Given the description of an element on the screen output the (x, y) to click on. 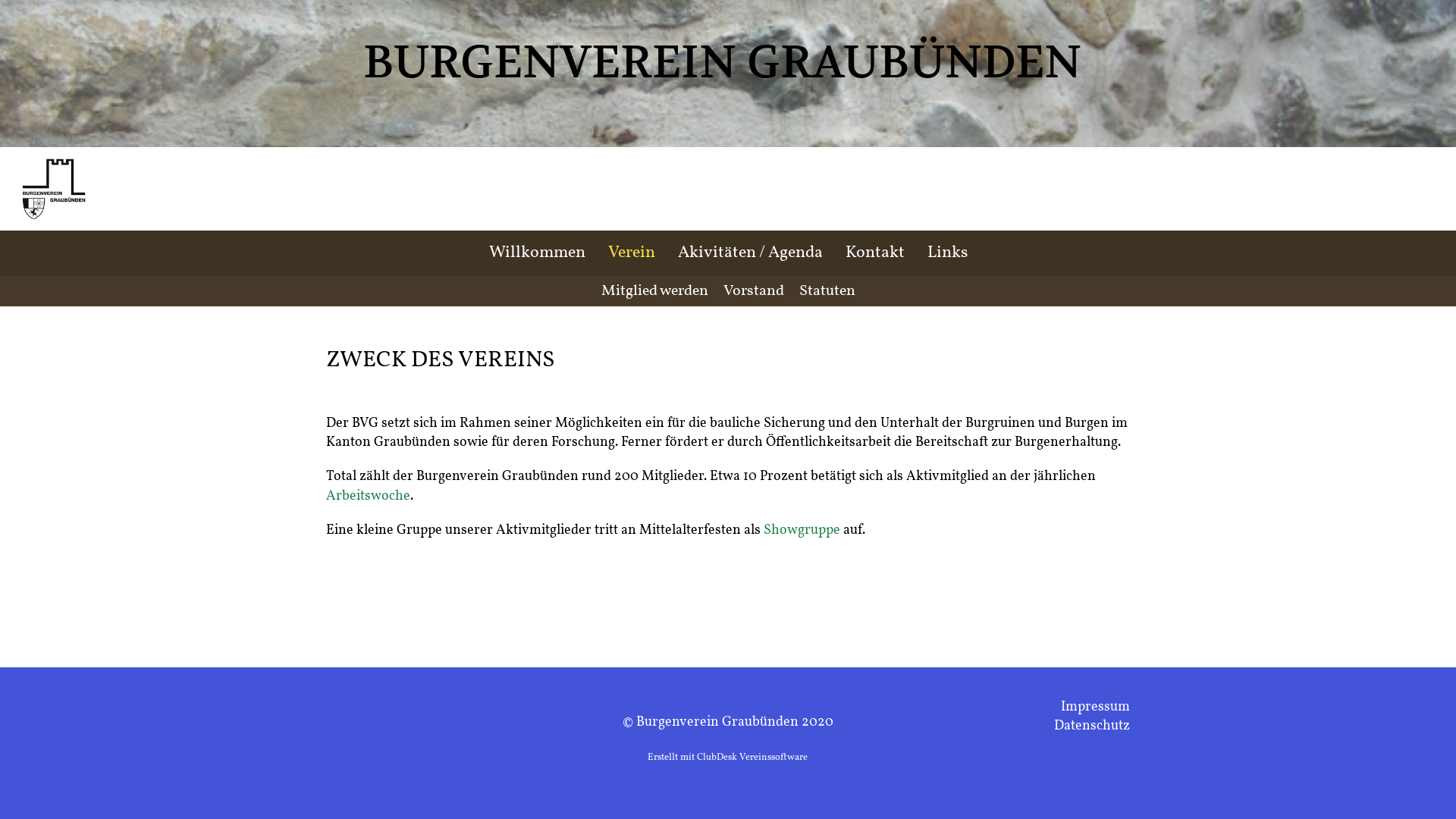
Willkommen Element type: text (536, 253)
Showgruppe Element type: text (801, 529)
Erstellt mit ClubDesk Vereinssoftware Element type: text (727, 757)
Vorstand Element type: text (753, 291)
Impressum Element type: text (1094, 706)
Datenschutz Element type: text (1091, 725)
Arbeitswoche Element type: text (368, 495)
Verein Element type: text (630, 253)
Kontakt Element type: text (875, 253)
Statuten Element type: text (826, 291)
Mitglied werden Element type: text (654, 291)
Links Element type: text (947, 253)
